Given the description of an element on the screen output the (x, y) to click on. 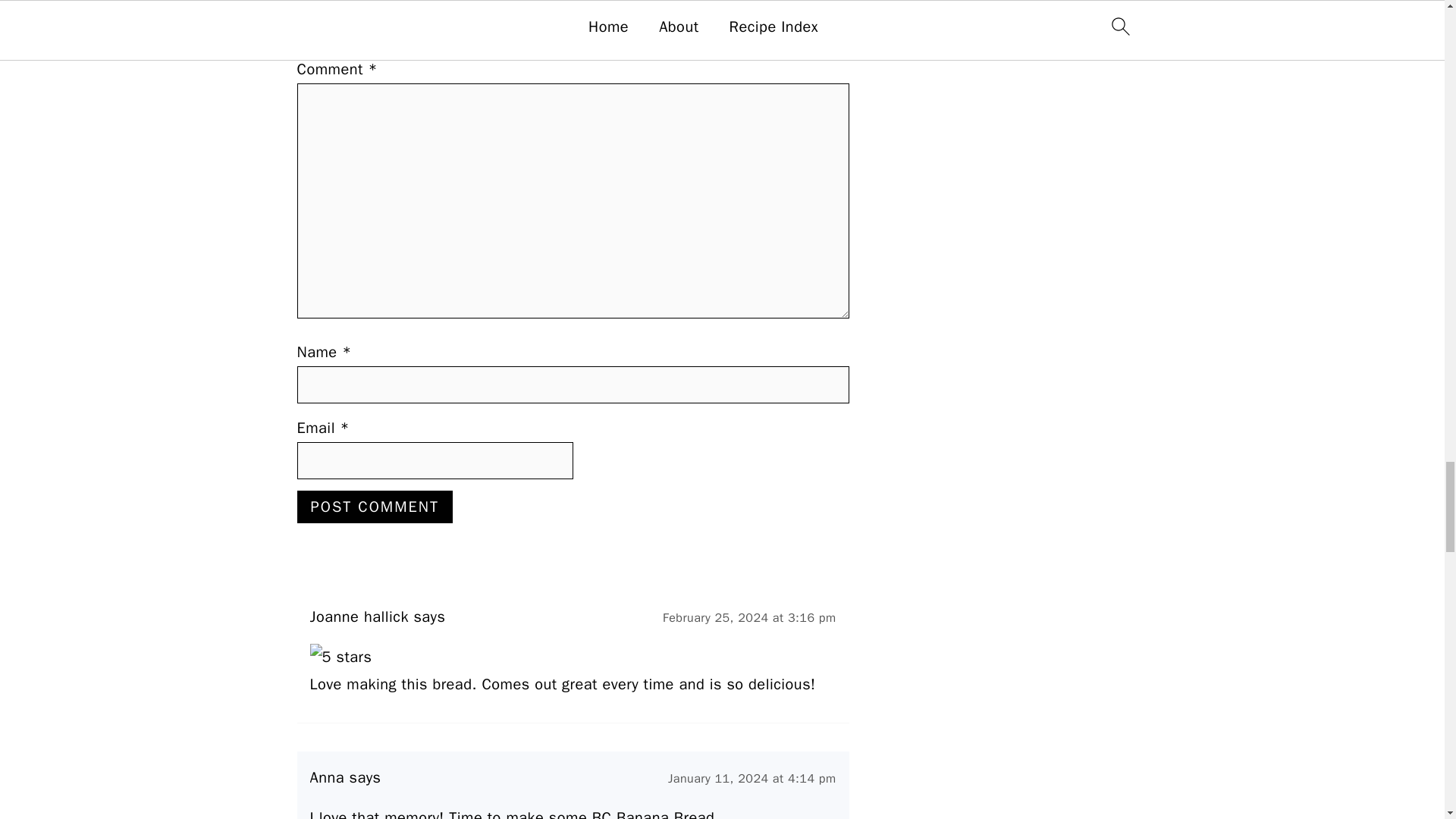
5 (317, 22)
4 (317, 2)
Post Comment (374, 506)
Post Comment (374, 506)
